Given the description of an element on the screen output the (x, y) to click on. 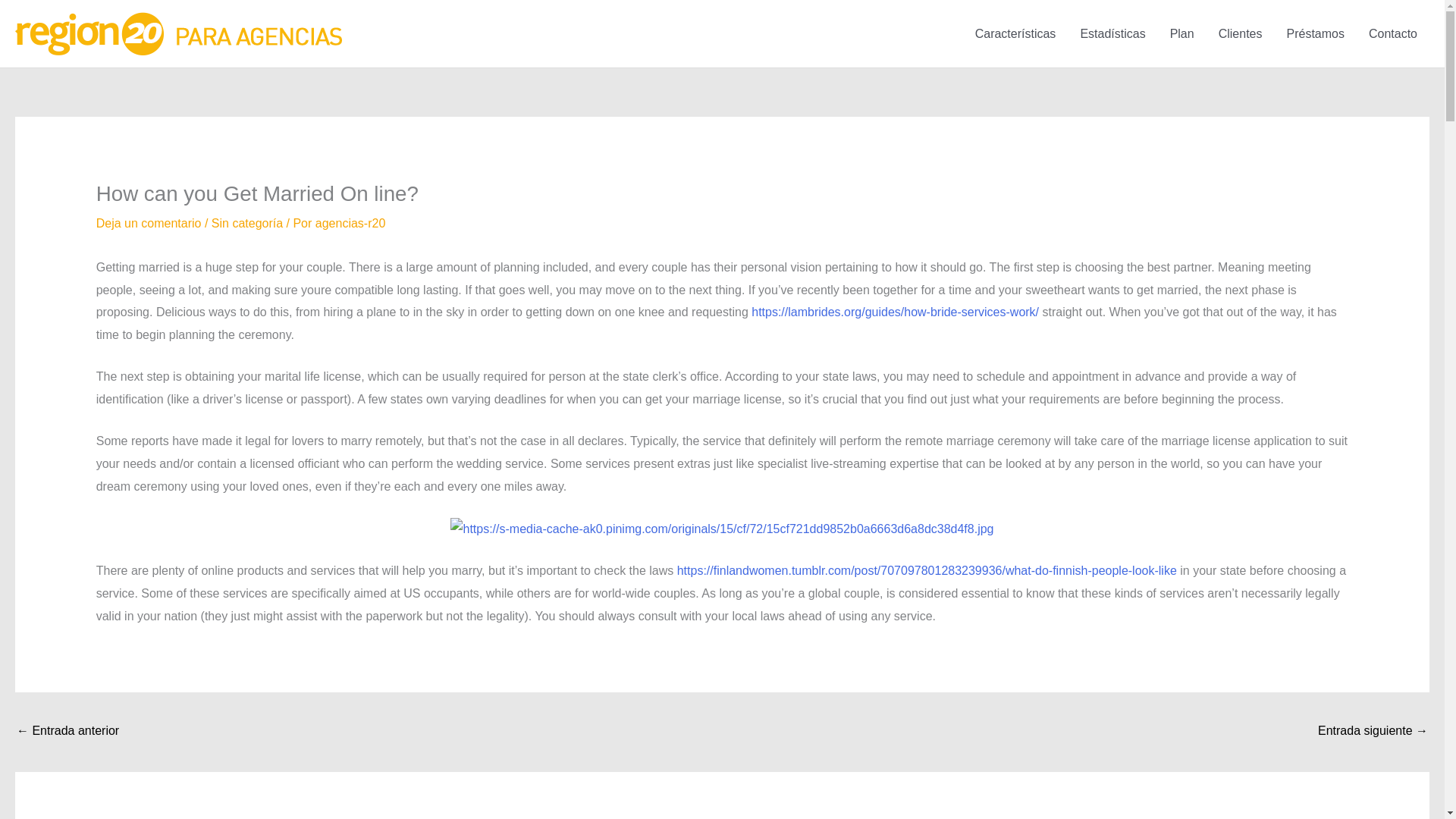
Clientes (1241, 33)
Deja un comentario (149, 223)
Ver todas las entradas de agencias-r20 (350, 223)
agencias-r20 (350, 223)
Contacto (1392, 33)
